Given the description of an element on the screen output the (x, y) to click on. 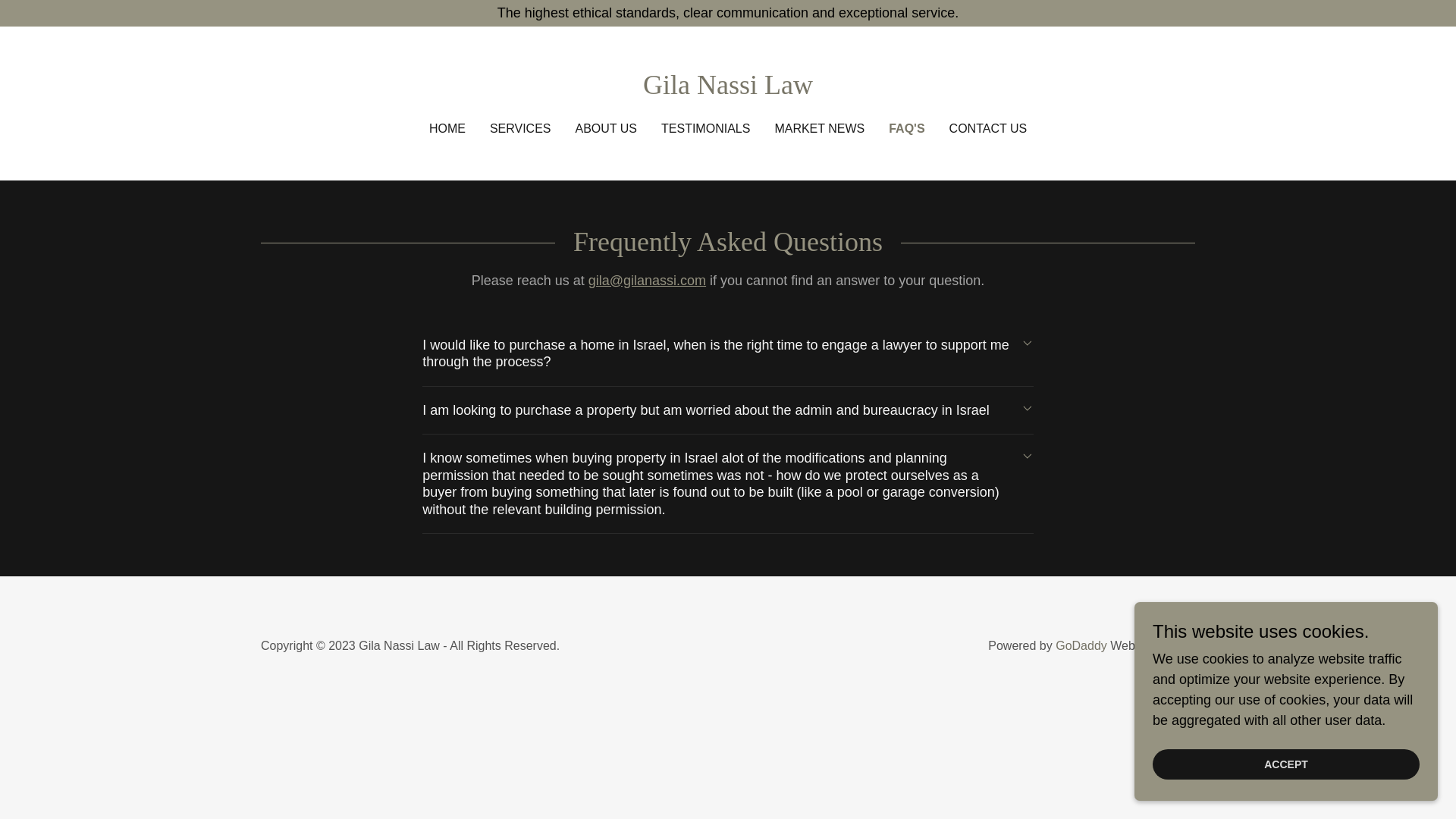
GoDaddy (1080, 645)
ABOUT US (606, 128)
FAQ'S (906, 128)
ACCEPT (1286, 764)
SERVICES (520, 128)
HOME (447, 128)
Gila Nassi Law (727, 89)
Gila Nassi Law (727, 89)
CONTACT US (988, 128)
